Given the description of an element on the screen output the (x, y) to click on. 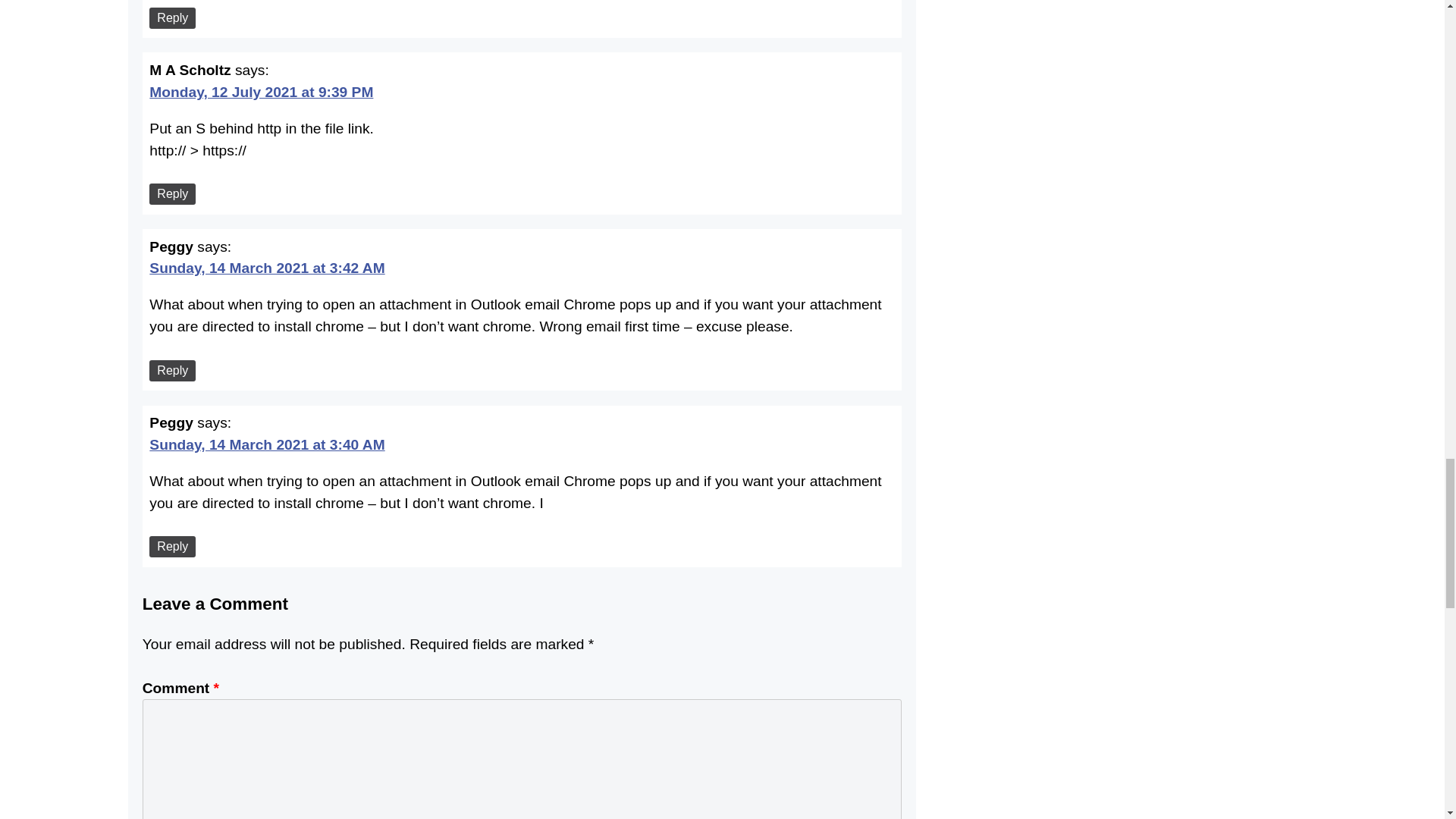
Sunday, 14 March 2021 at 3:42 AM (266, 266)
Reply (172, 546)
Sunday, 14 March 2021 at 3:40 AM (266, 442)
Monday, 12 July 2021 at 9:39 PM (260, 89)
Reply (172, 370)
Reply (172, 193)
Reply (172, 17)
